Given the description of an element on the screen output the (x, y) to click on. 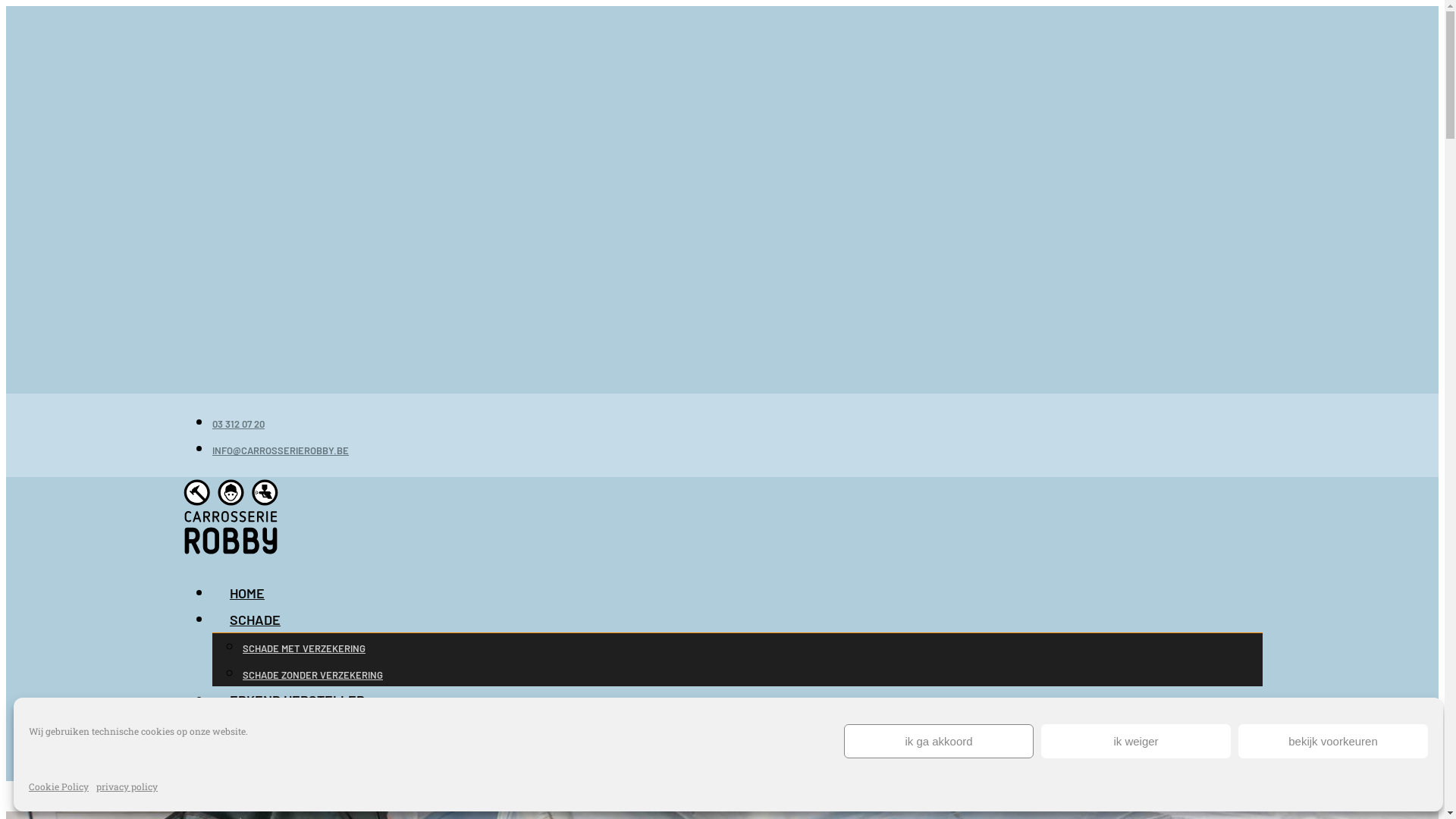
03 312 07 20 Element type: text (238, 423)
bekijk voorkeuren Element type: text (1332, 741)
privacy policy Element type: text (126, 786)
CONTACT Element type: text (258, 752)
ERKEND HERSTELLER Element type: text (296, 699)
ik ga akkoord Element type: text (938, 741)
ik weiger Element type: text (1135, 741)
SCHADE MET VERZEKERING Element type: text (303, 648)
EB.YBBOREIRESSORRAC@OFNI Element type: text (280, 450)
SCHADE Element type: text (254, 619)
HOME Element type: text (246, 592)
SCHADE ZONDER VERZEKERING Element type: text (312, 674)
Cookie Policy Element type: text (58, 786)
OVER ONS Element type: text (260, 726)
